Given the description of an element on the screen output the (x, y) to click on. 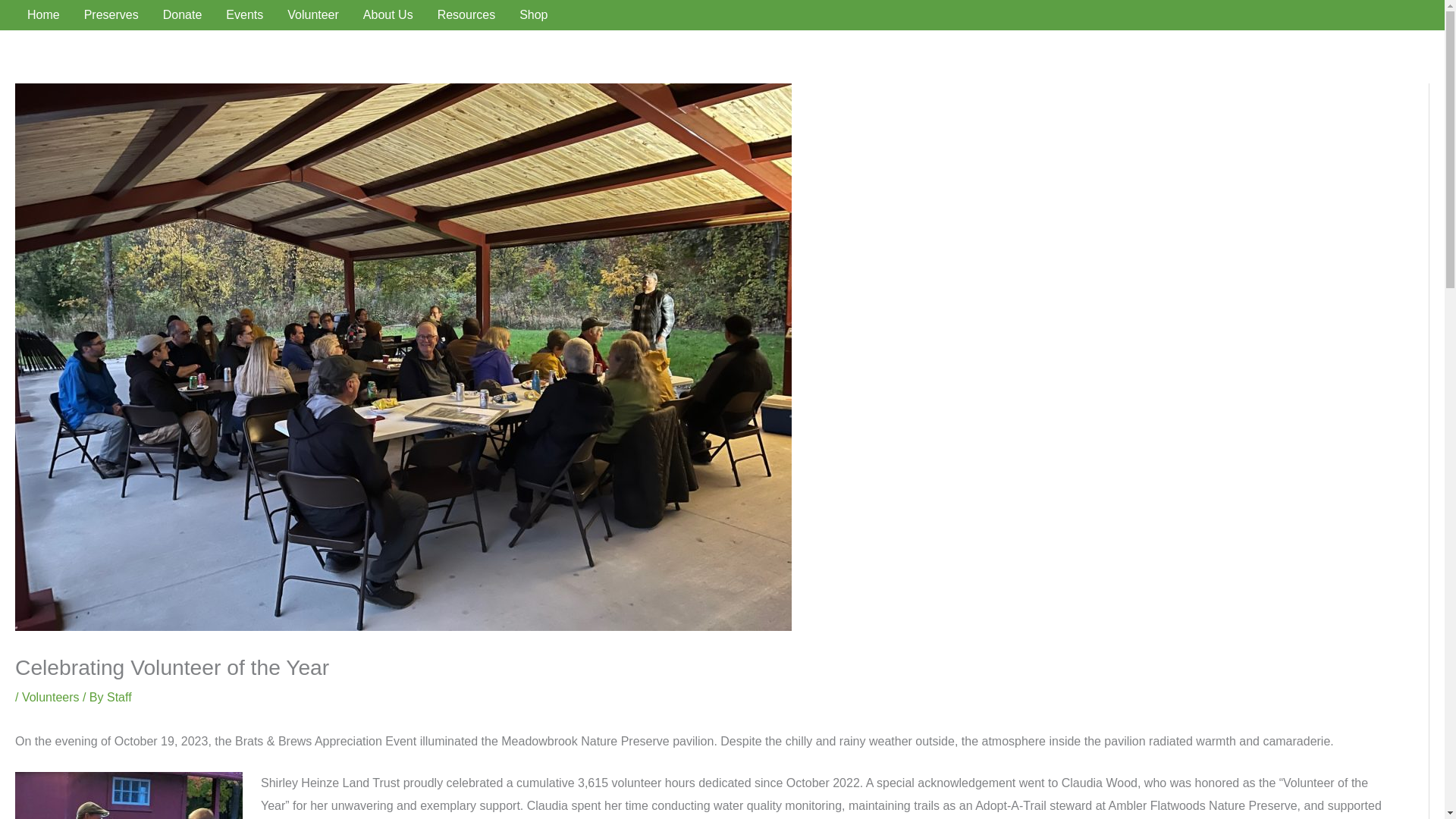
Preserves (111, 15)
Home (42, 15)
Events (244, 15)
Donate (182, 15)
View all posts by Staff (119, 697)
